Given the description of an element on the screen output the (x, y) to click on. 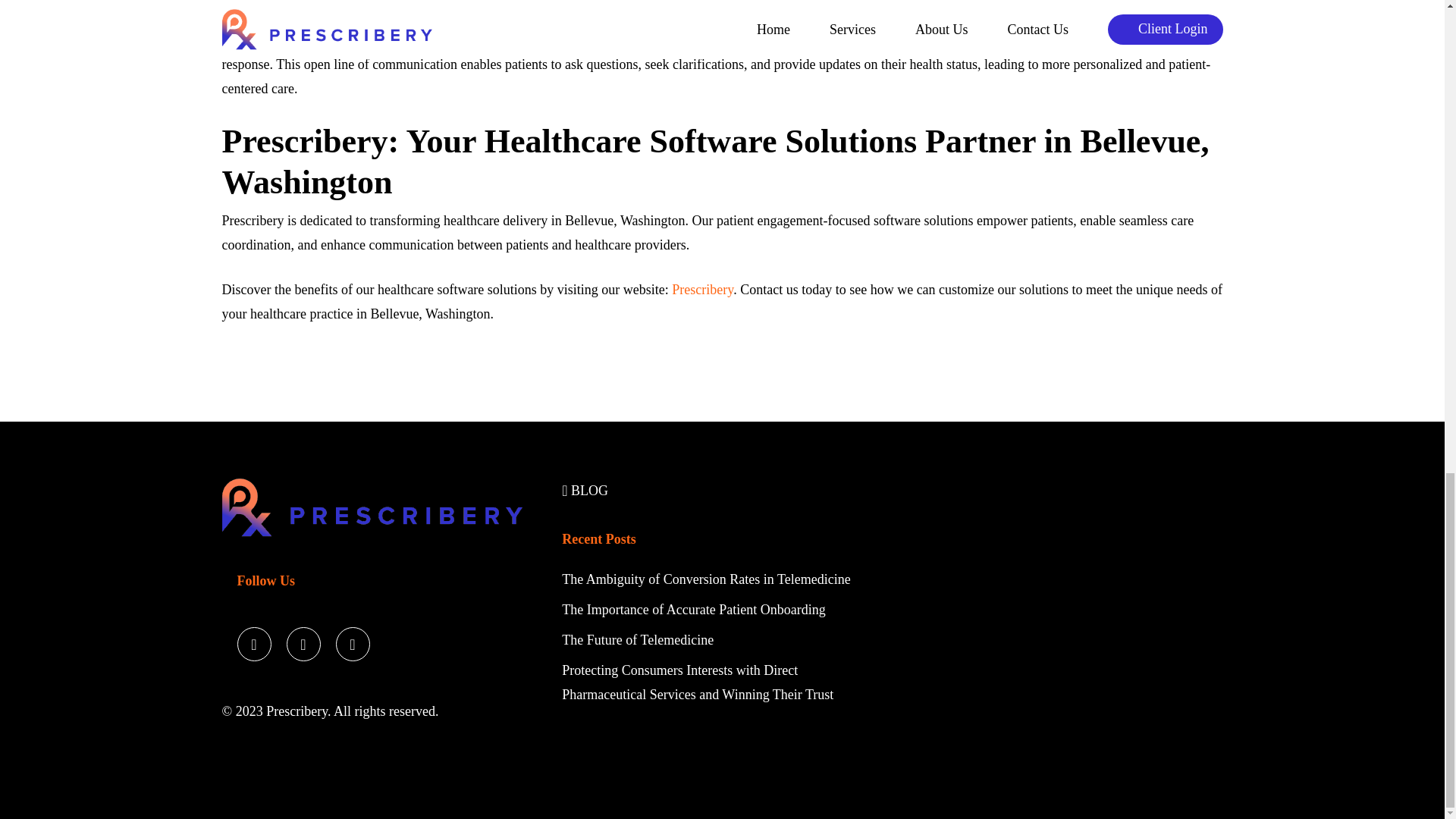
The Future of Telemedicine (637, 639)
BLOG (585, 490)
LinkedIn (351, 640)
The Ambiguity of Conversion Rates in Telemedicine  (707, 579)
Prescribery (702, 289)
facebook (303, 640)
twitter (252, 640)
The Importance of Accurate Patient Onboarding (693, 609)
